Given the description of an element on the screen output the (x, y) to click on. 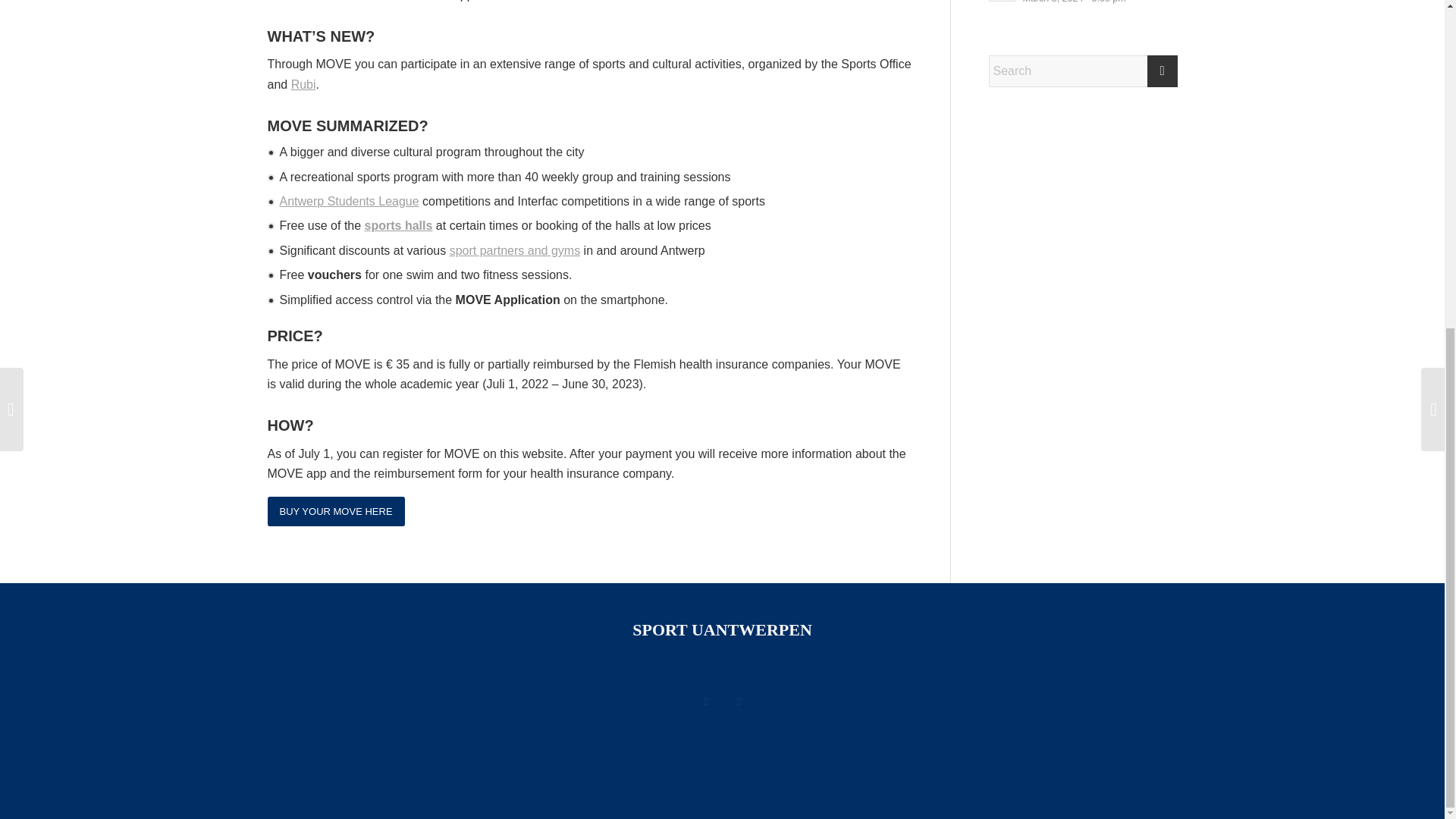
sport partners and gyms (514, 250)
Rubi (303, 83)
Antwerp Students League (349, 201)
sports halls (398, 225)
BUY YOUR MOVE HERE (335, 511)
